Given the description of an element on the screen output the (x, y) to click on. 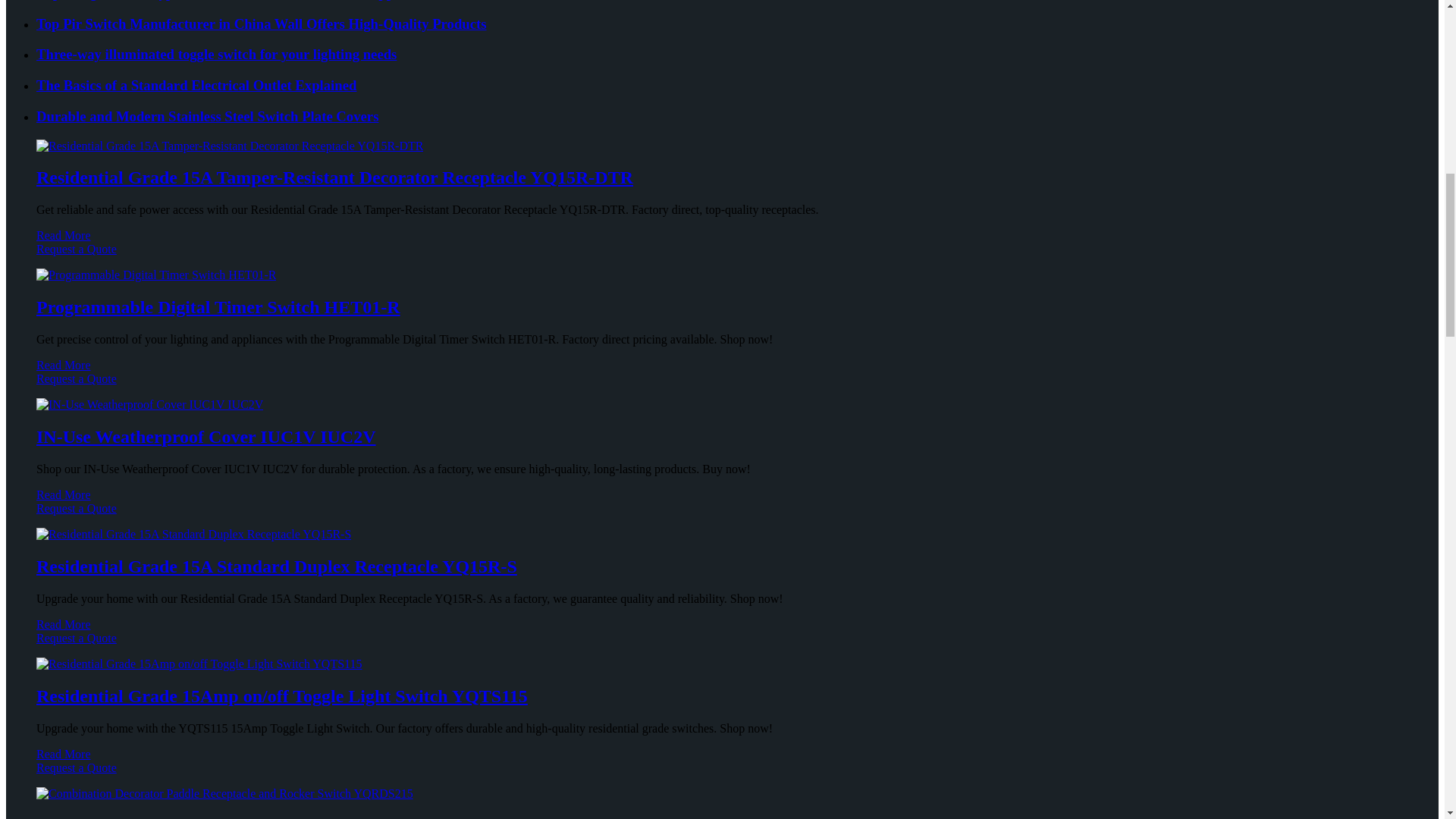
Read More (63, 235)
IN-Use Weatherproof Cover IUC1V IUC2V (205, 436)
Request a Quote (721, 385)
Read More (63, 494)
Request a Quote (721, 256)
Read More (63, 364)
Request a Quote (721, 515)
Programmable Digital Timer Switch HET01-R (218, 306)
